Given the description of an element on the screen output the (x, y) to click on. 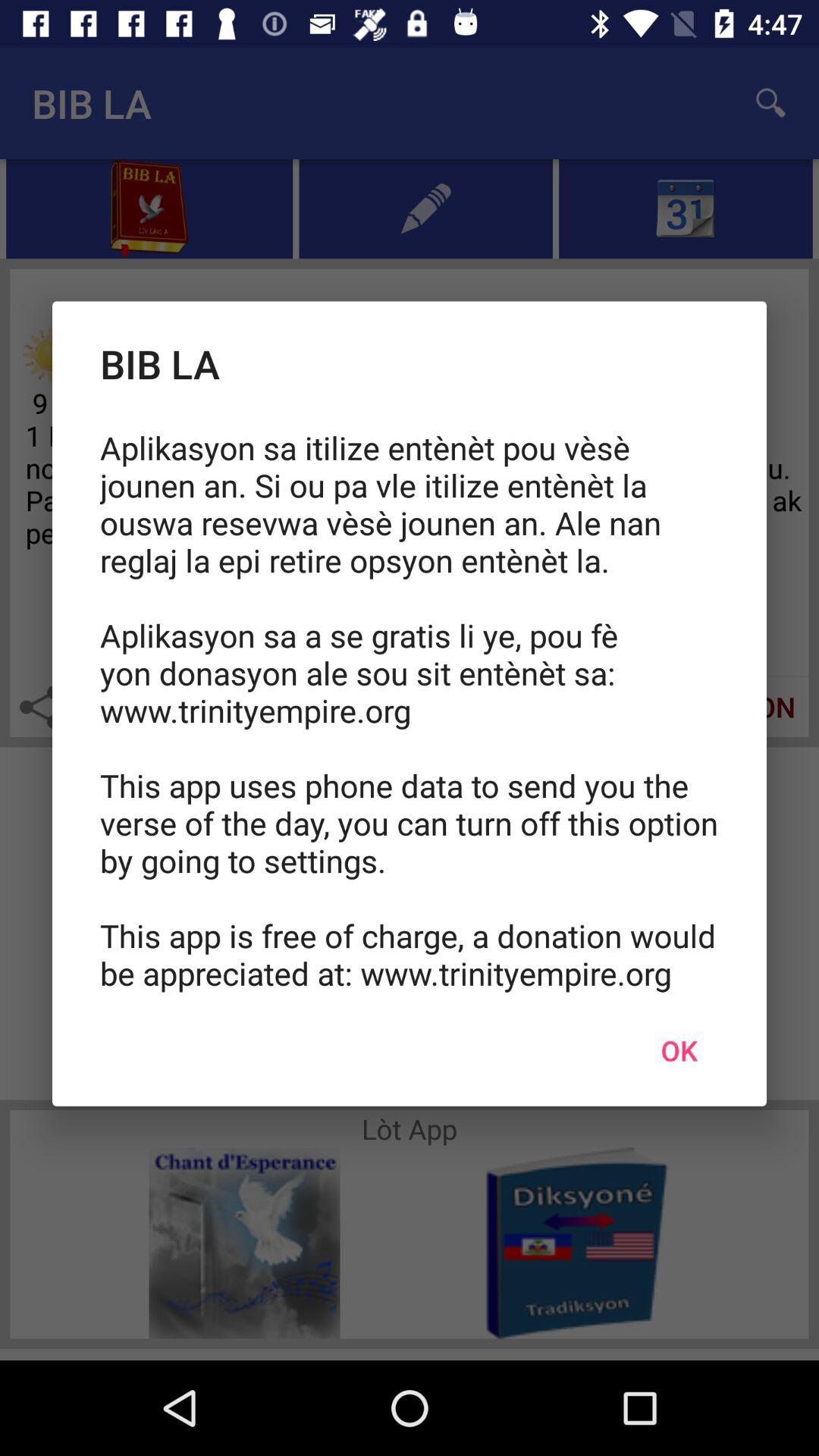
turn on the icon at the bottom right corner (678, 1050)
